Given the description of an element on the screen output the (x, y) to click on. 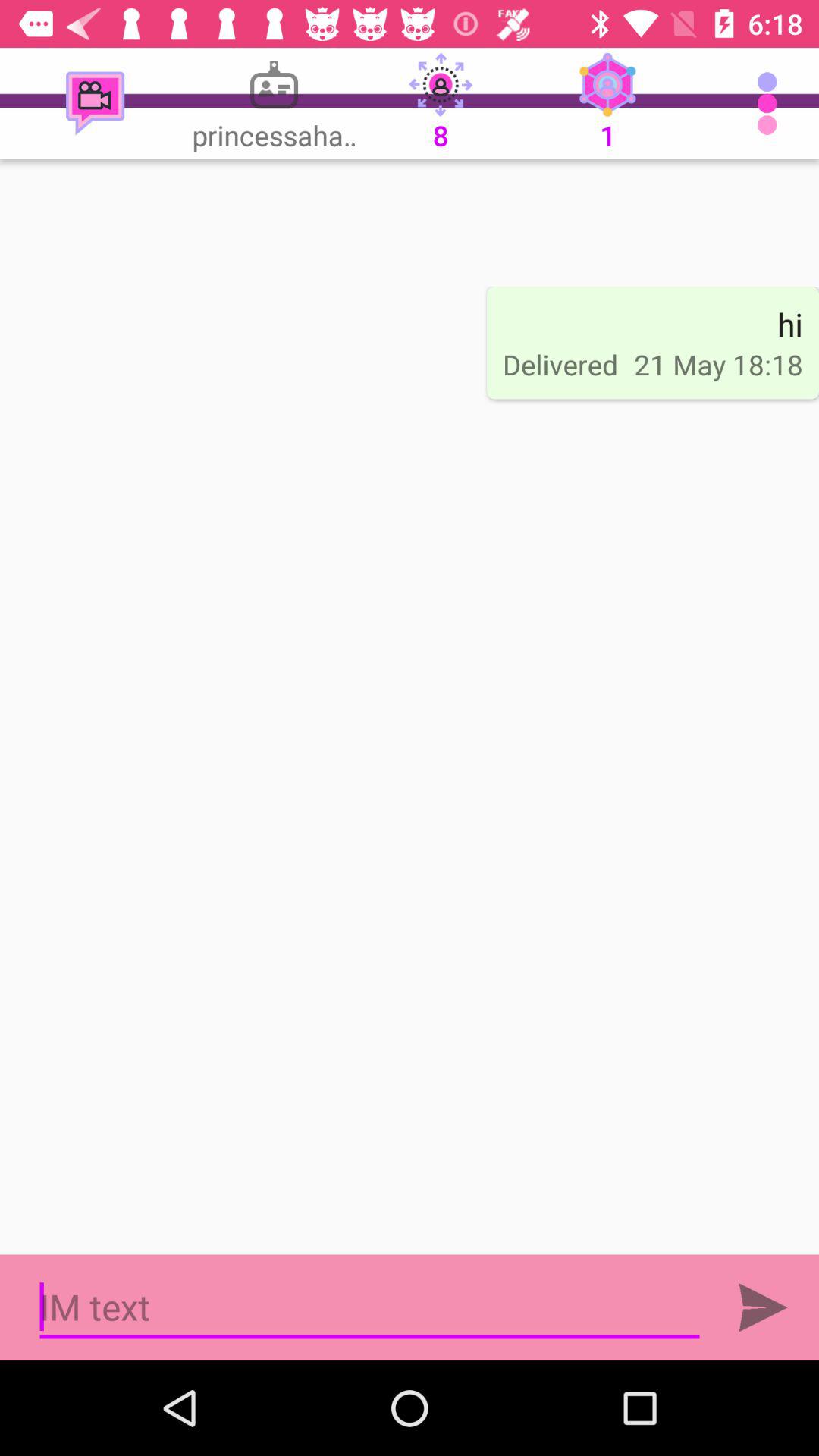
text typing area (369, 1307)
